Given the description of an element on the screen output the (x, y) to click on. 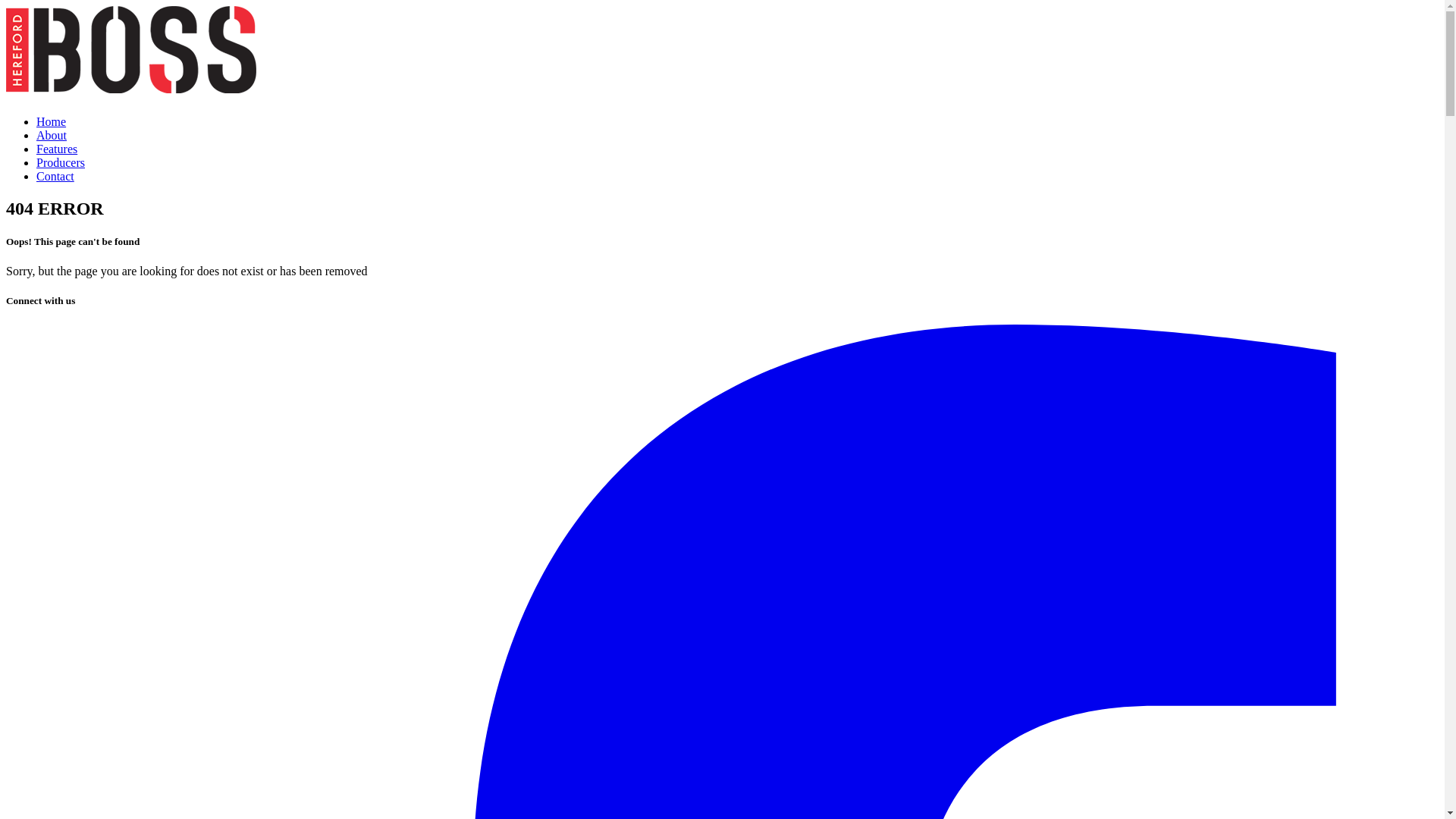
Home Element type: text (50, 121)
Producers Element type: text (60, 162)
About Element type: text (51, 134)
Features Element type: text (56, 148)
Contact Element type: text (55, 175)
